Given the description of an element on the screen output the (x, y) to click on. 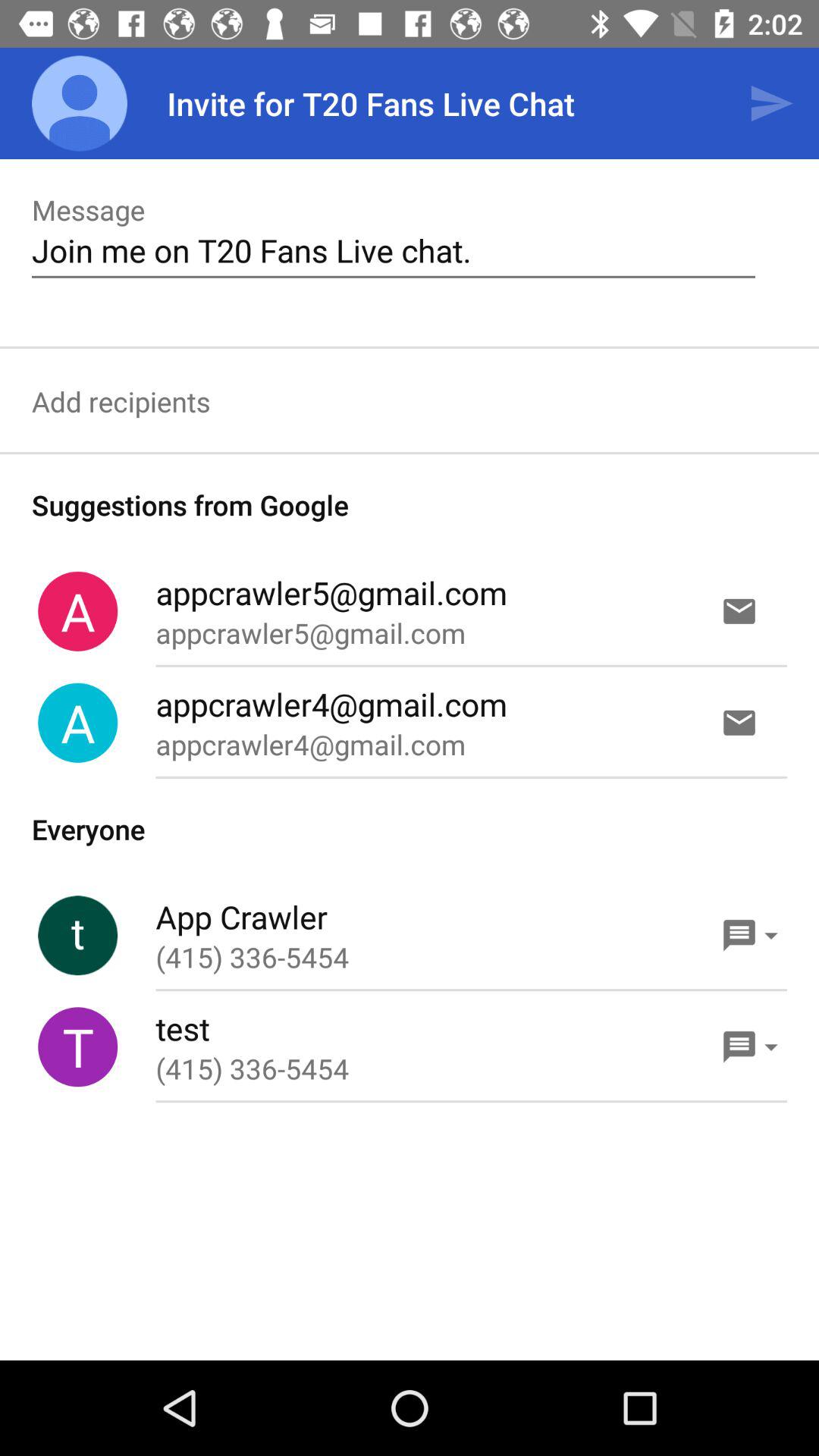
scroll to join me on (393, 249)
